Given the description of an element on the screen output the (x, y) to click on. 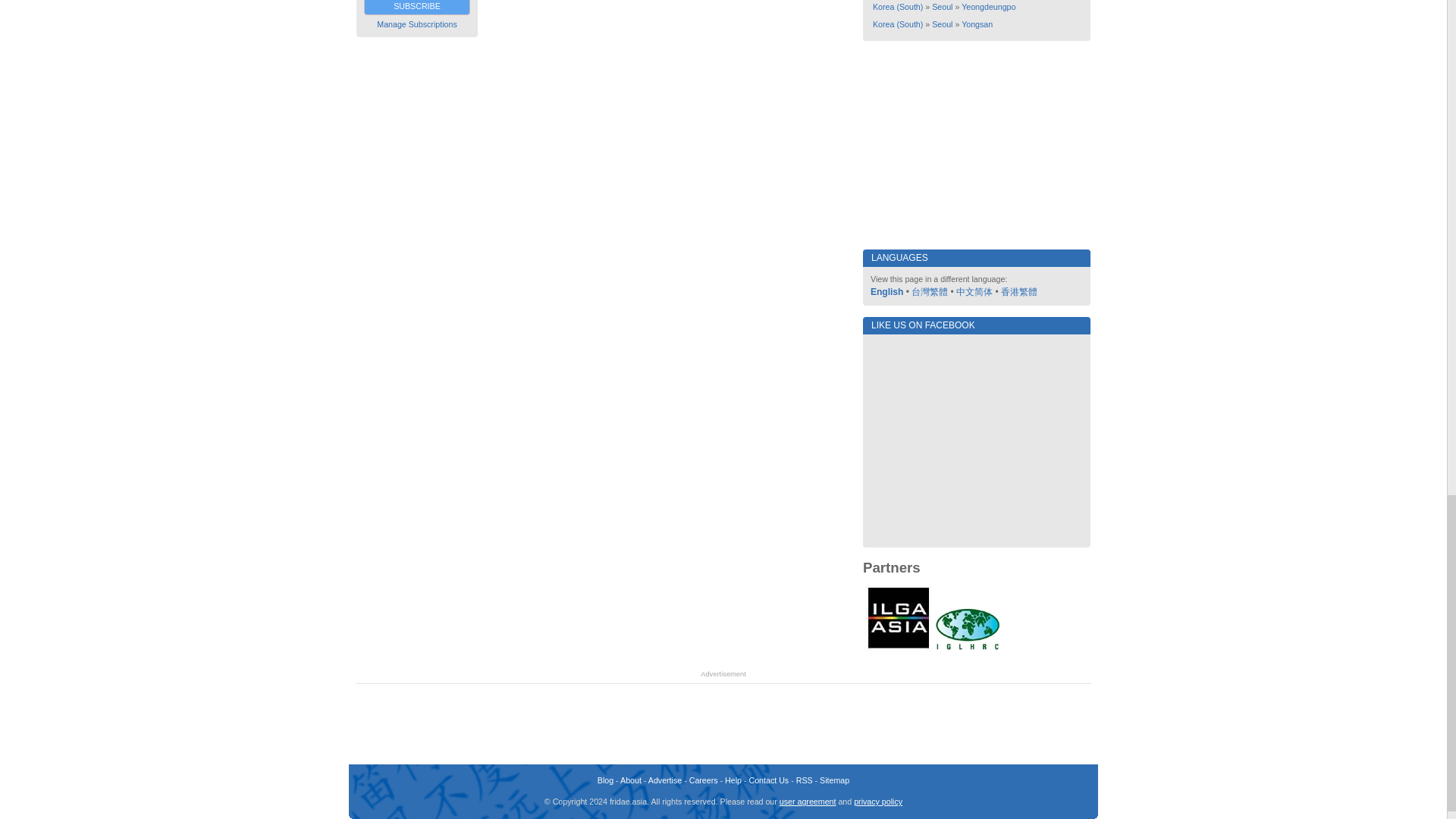
IGLHRC - Fridae Partner for LGBT rights in Asia (967, 629)
ILGA Asia - Fridae partner for LGBT rights in Asia (897, 617)
IGLHRC - Fridae Partner for LGBT rights in Asia (967, 647)
ILGA Asia - Fridae partner for LGBT rights in Asia (897, 647)
